Given the description of an element on the screen output the (x, y) to click on. 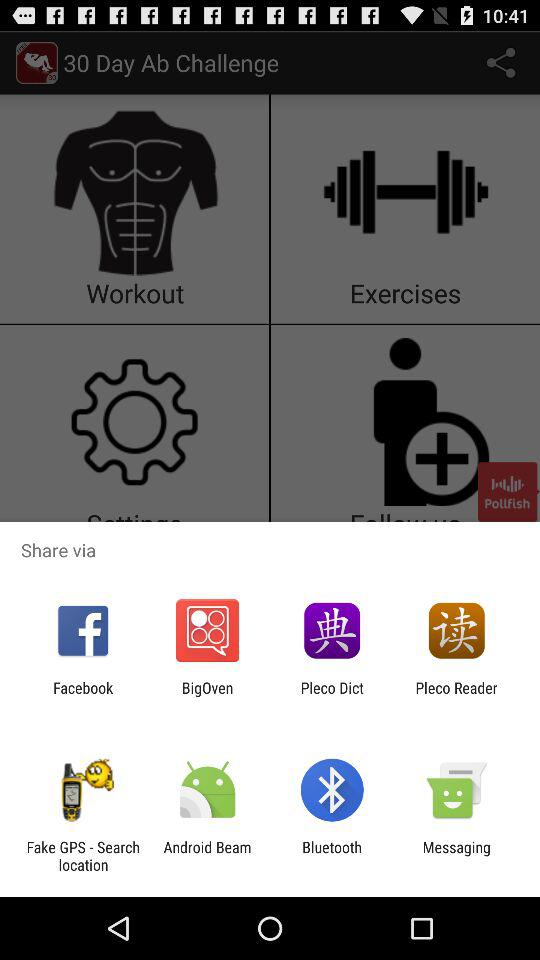
click the app next to the bigoven icon (331, 696)
